Given the description of an element on the screen output the (x, y) to click on. 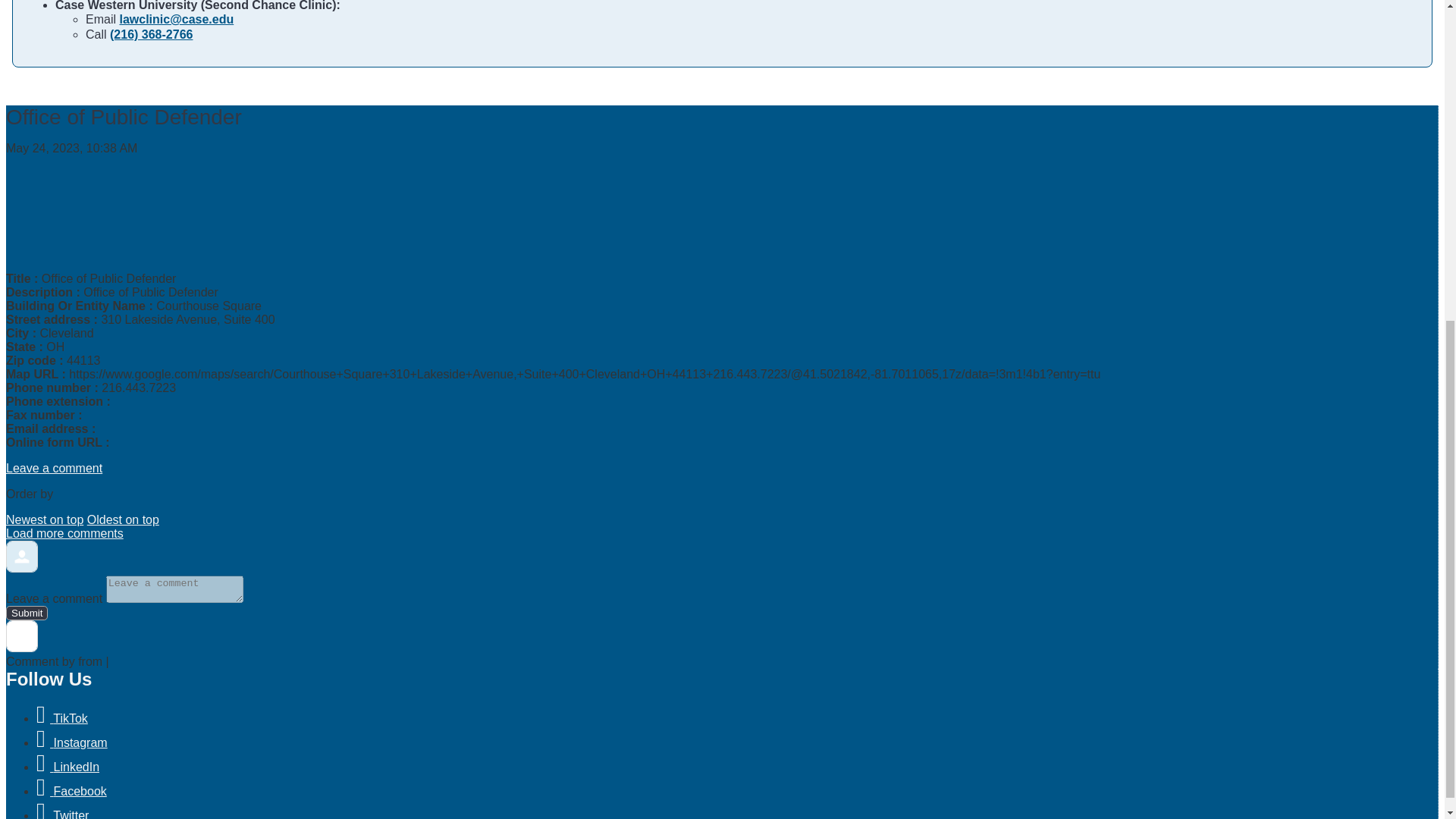
Oldest on top (122, 519)
Submit (26, 612)
Newest on top (43, 519)
LinkedIn (67, 766)
Facebook (71, 790)
Instagram (71, 742)
Leave a comment (53, 468)
TikTok (61, 717)
Load more comments (64, 533)
